Given the description of an element on the screen output the (x, y) to click on. 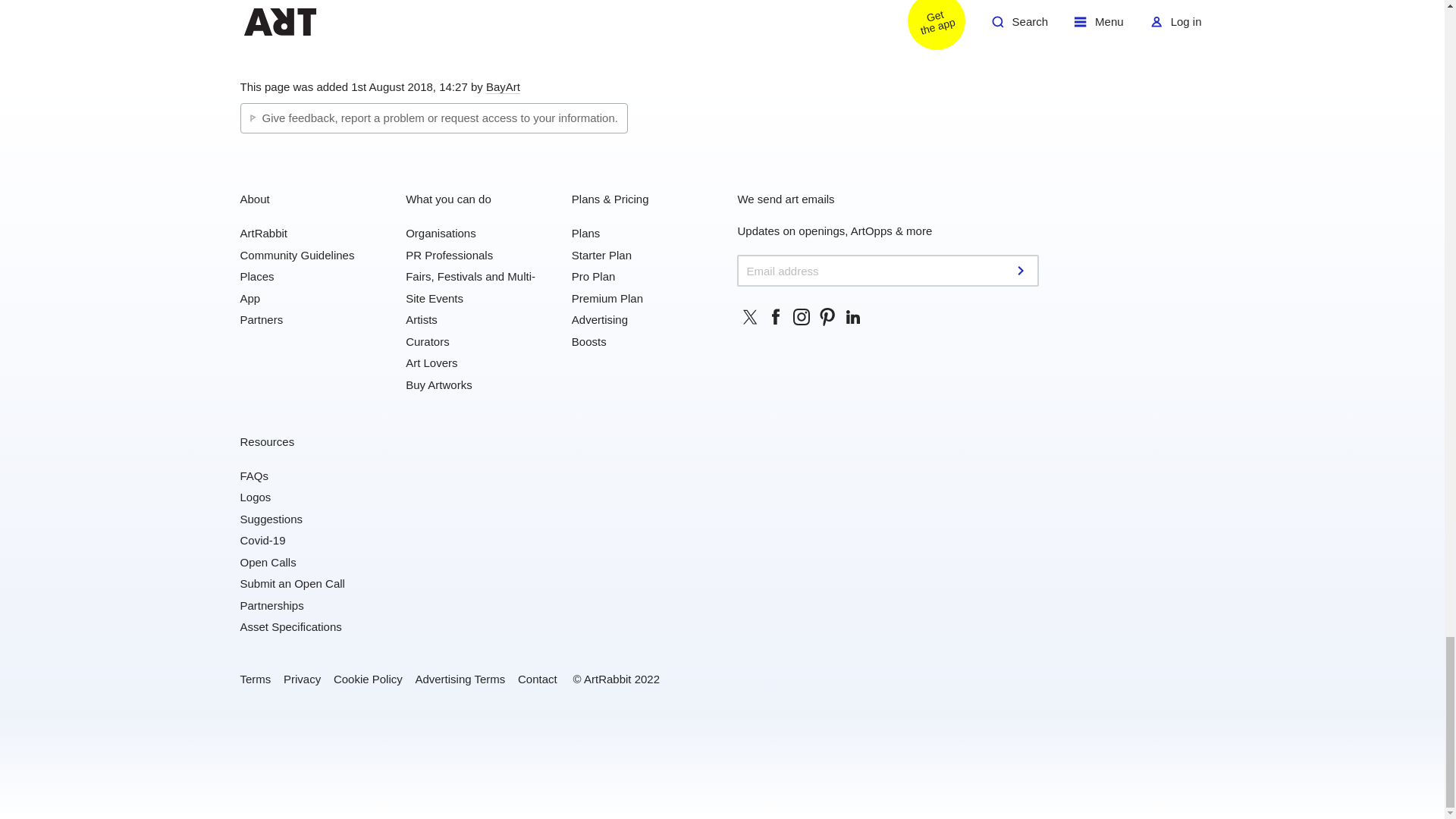
submit (1021, 270)
